Given the description of an element on the screen output the (x, y) to click on. 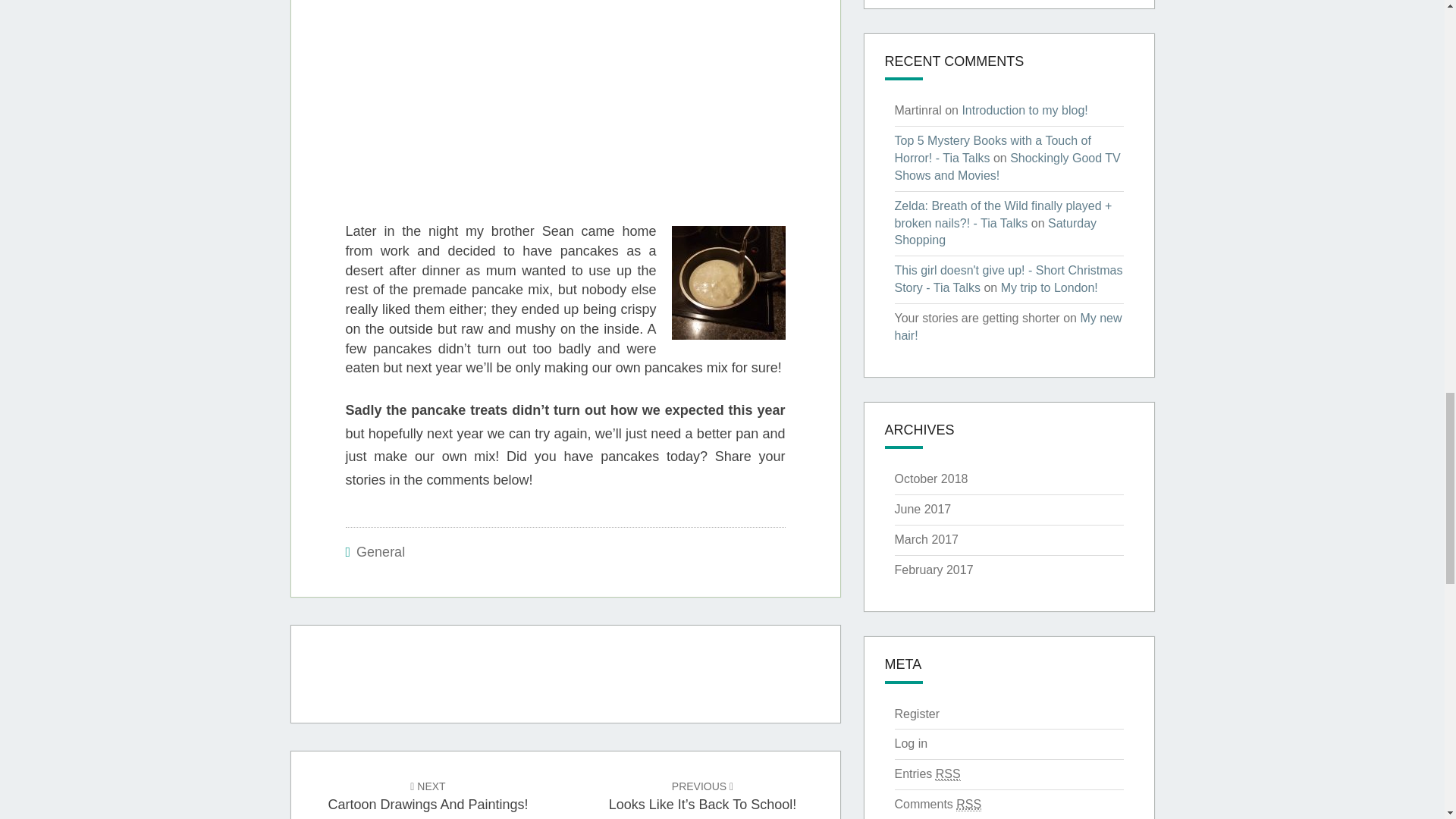
General (380, 551)
Advertisement (645, 121)
